Given the description of an element on the screen output the (x, y) to click on. 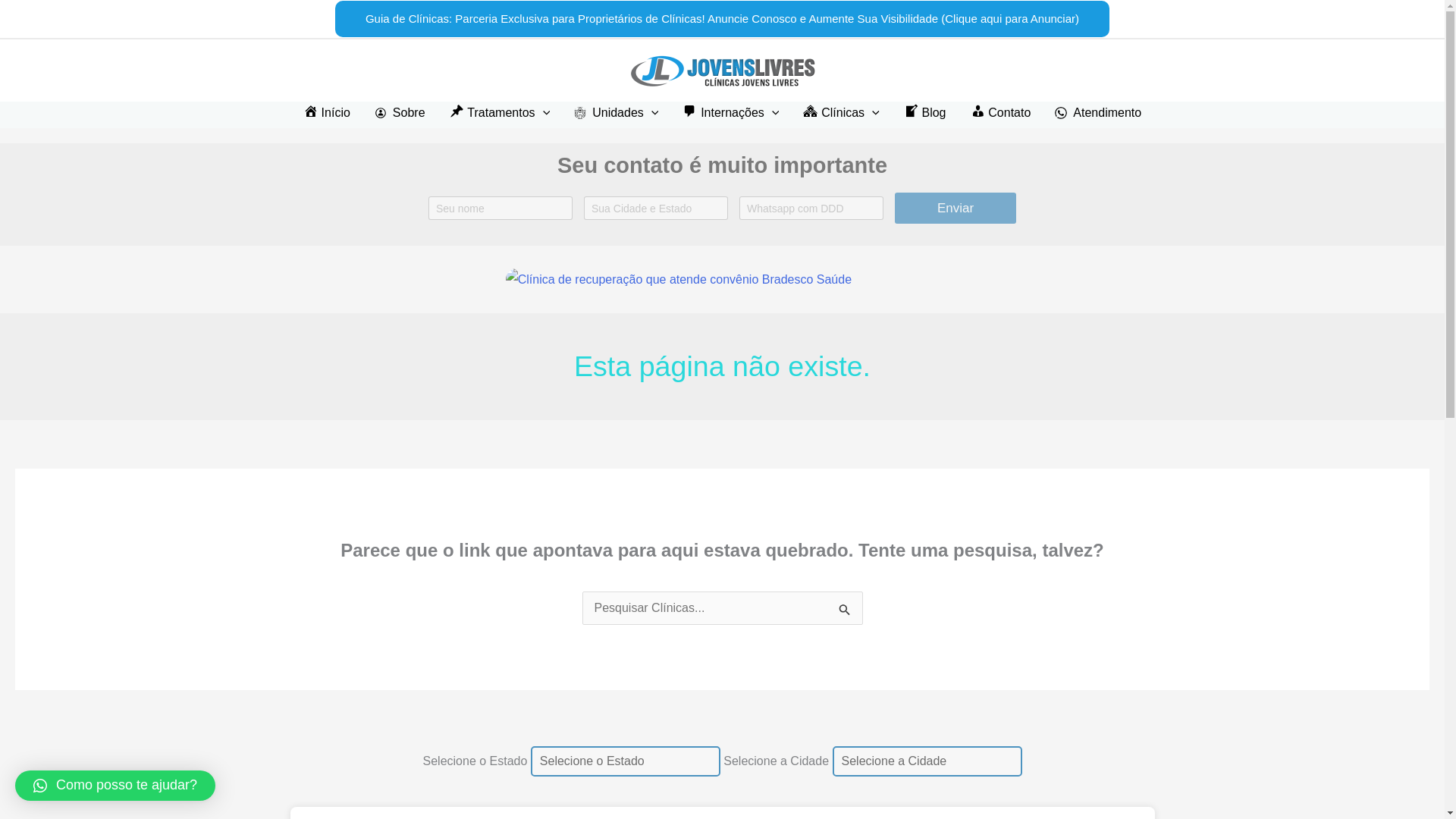
Unidades (615, 112)
Tratamentos (500, 112)
Sobre (400, 112)
